Given the description of an element on the screen output the (x, y) to click on. 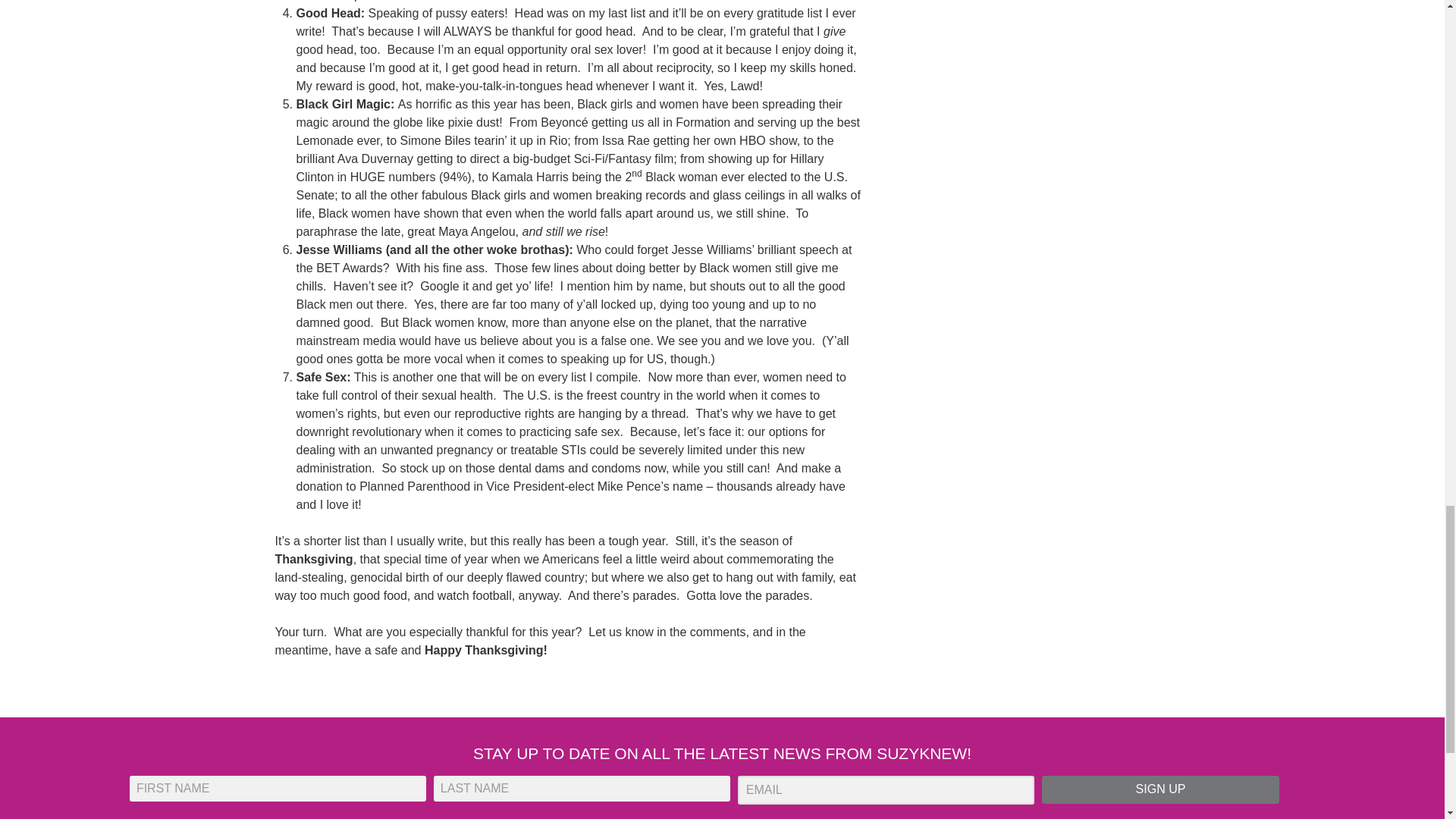
SIGN UP (1160, 789)
